Given the description of an element on the screen output the (x, y) to click on. 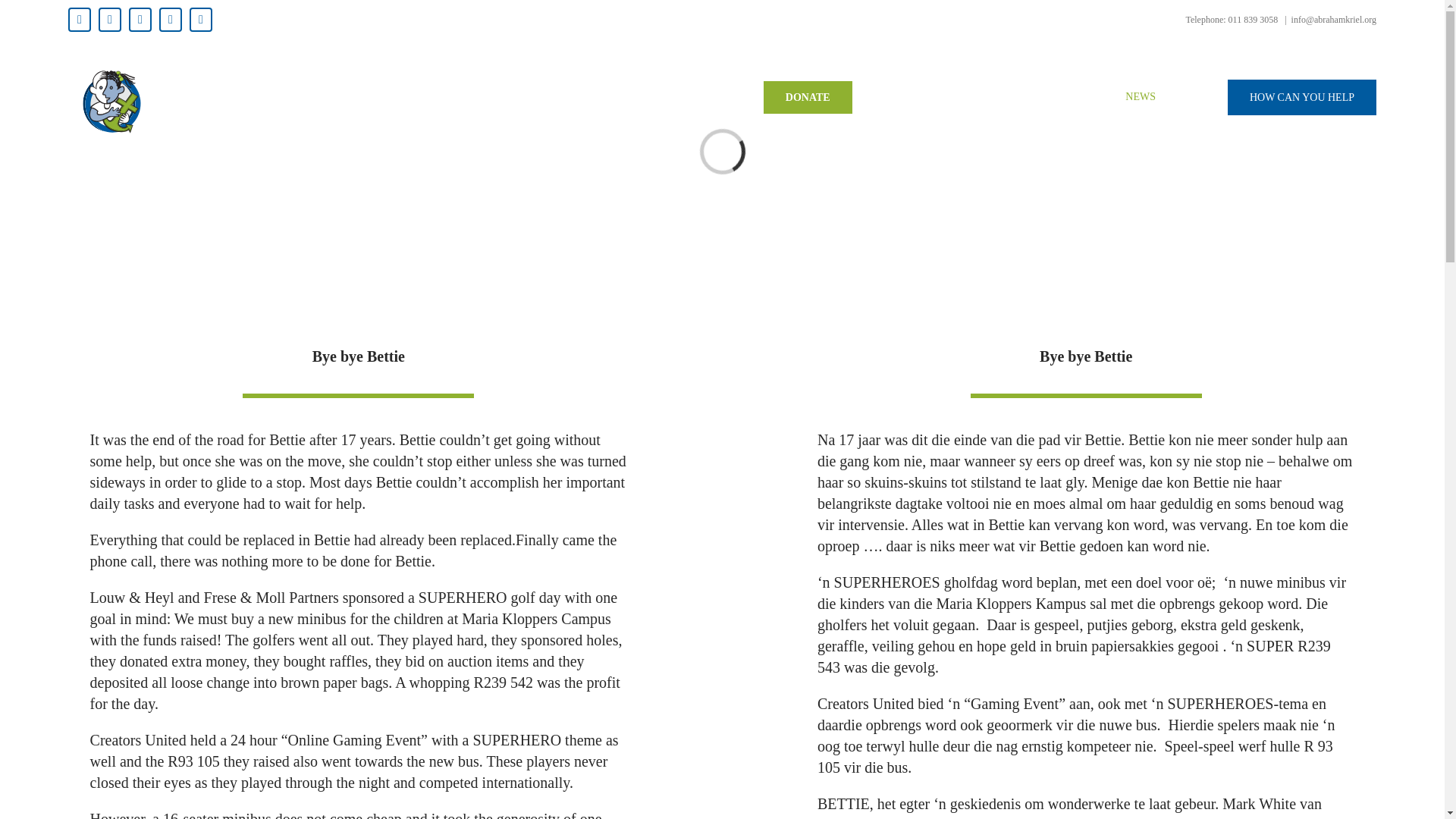
Instagram (140, 19)
Facebook (79, 19)
HOW CAN YOU HELP (1301, 96)
Facebook (79, 19)
LinkedIn (200, 19)
Instagram (140, 19)
Twitter (109, 19)
YouTube (170, 19)
LinkedIn (200, 19)
YouTube (170, 19)
Twitter (109, 19)
